Given the description of an element on the screen output the (x, y) to click on. 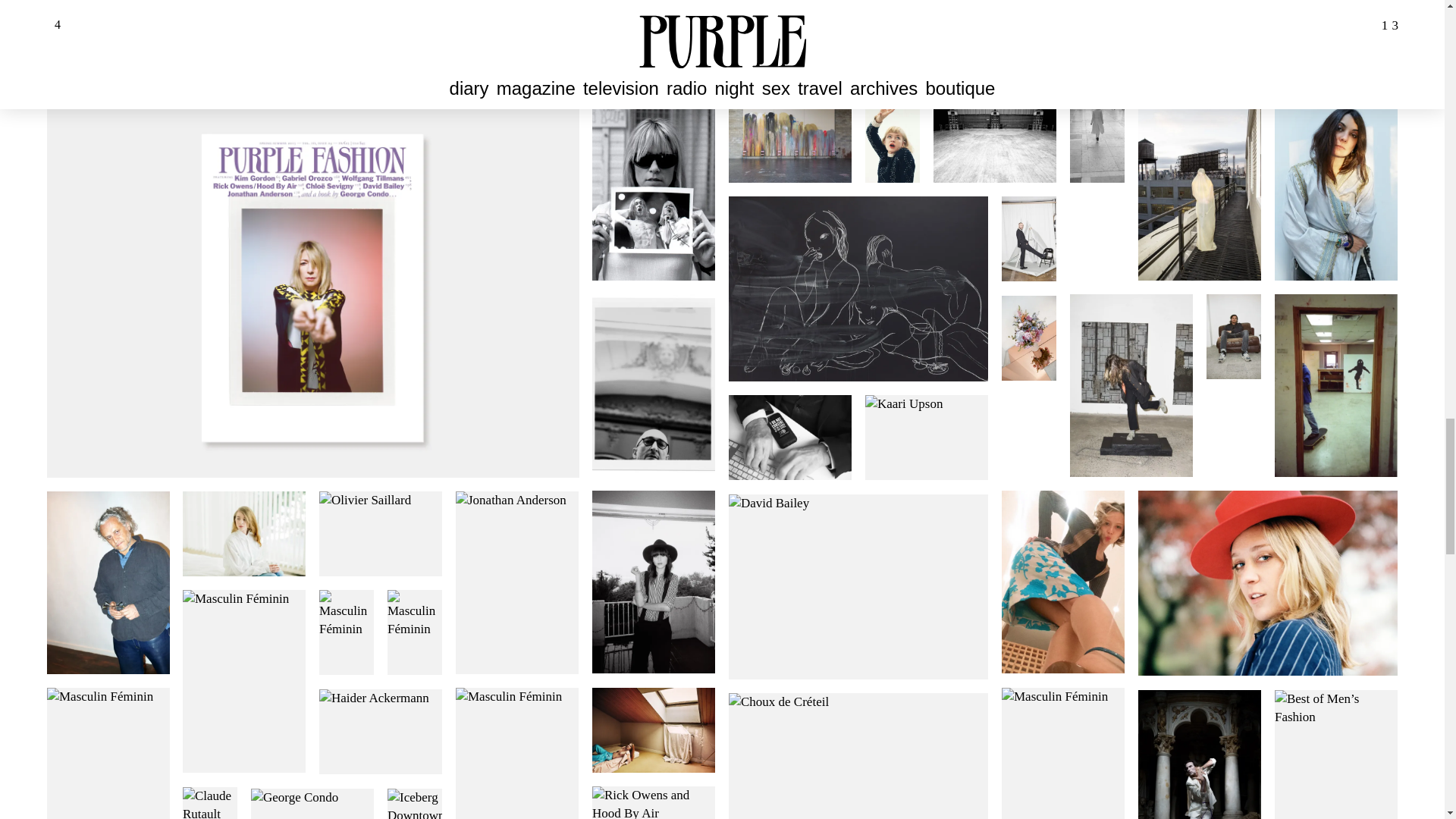
Despacio Sound System (566, 5)
Allegria Torassa (877, 5)
